Given the description of an element on the screen output the (x, y) to click on. 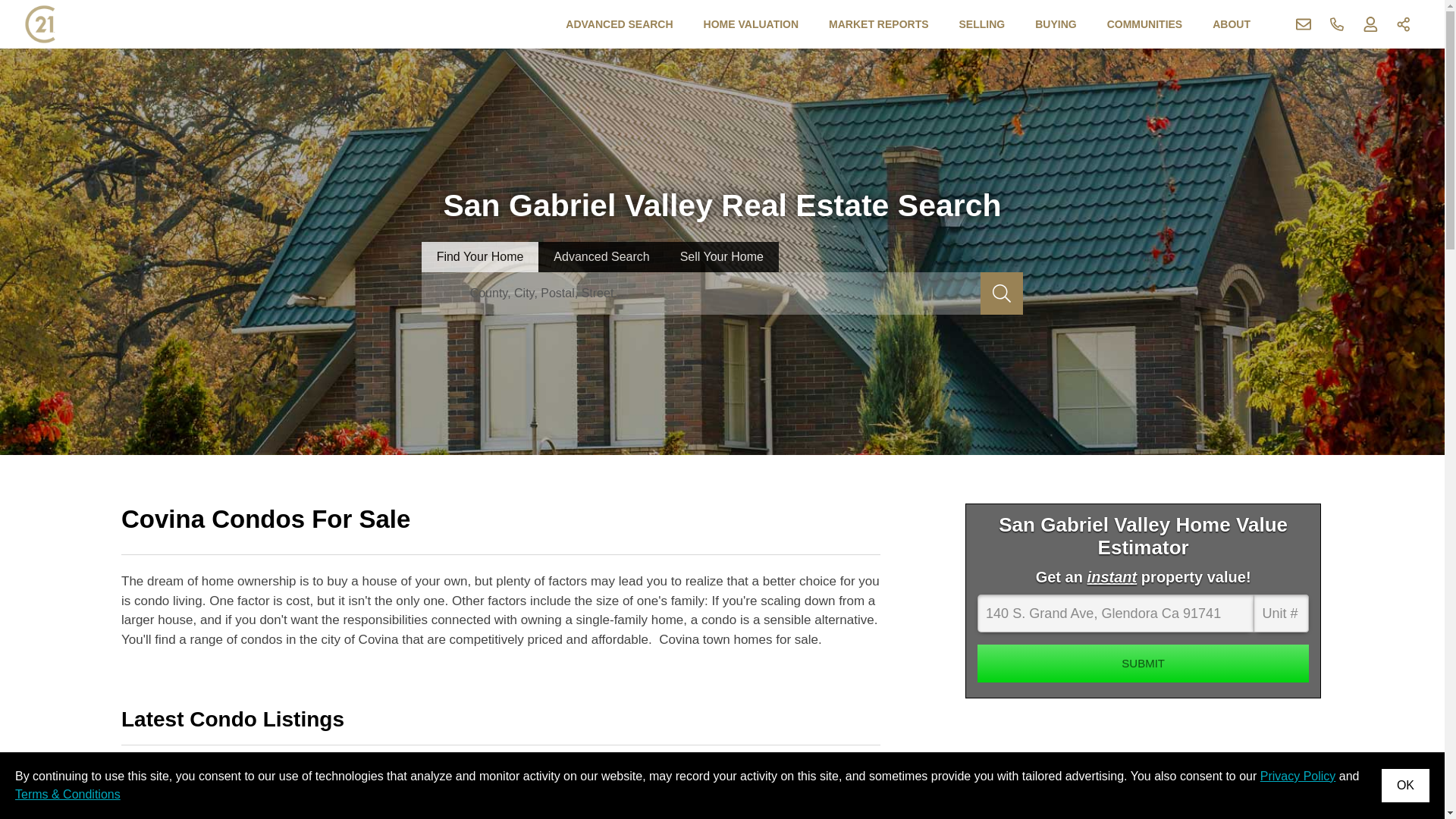
HOME VALUATION (751, 24)
SELLING (982, 24)
Contact us (1303, 23)
MARKET REPORTS (878, 24)
BUYING (1055, 24)
Share (1404, 23)
ADVANCED SEARCH (618, 24)
ABOUT (1231, 24)
Sign up or Sign in (1370, 23)
COMMUNITIES (1144, 24)
Phone number (1337, 23)
